Given the description of an element on the screen output the (x, y) to click on. 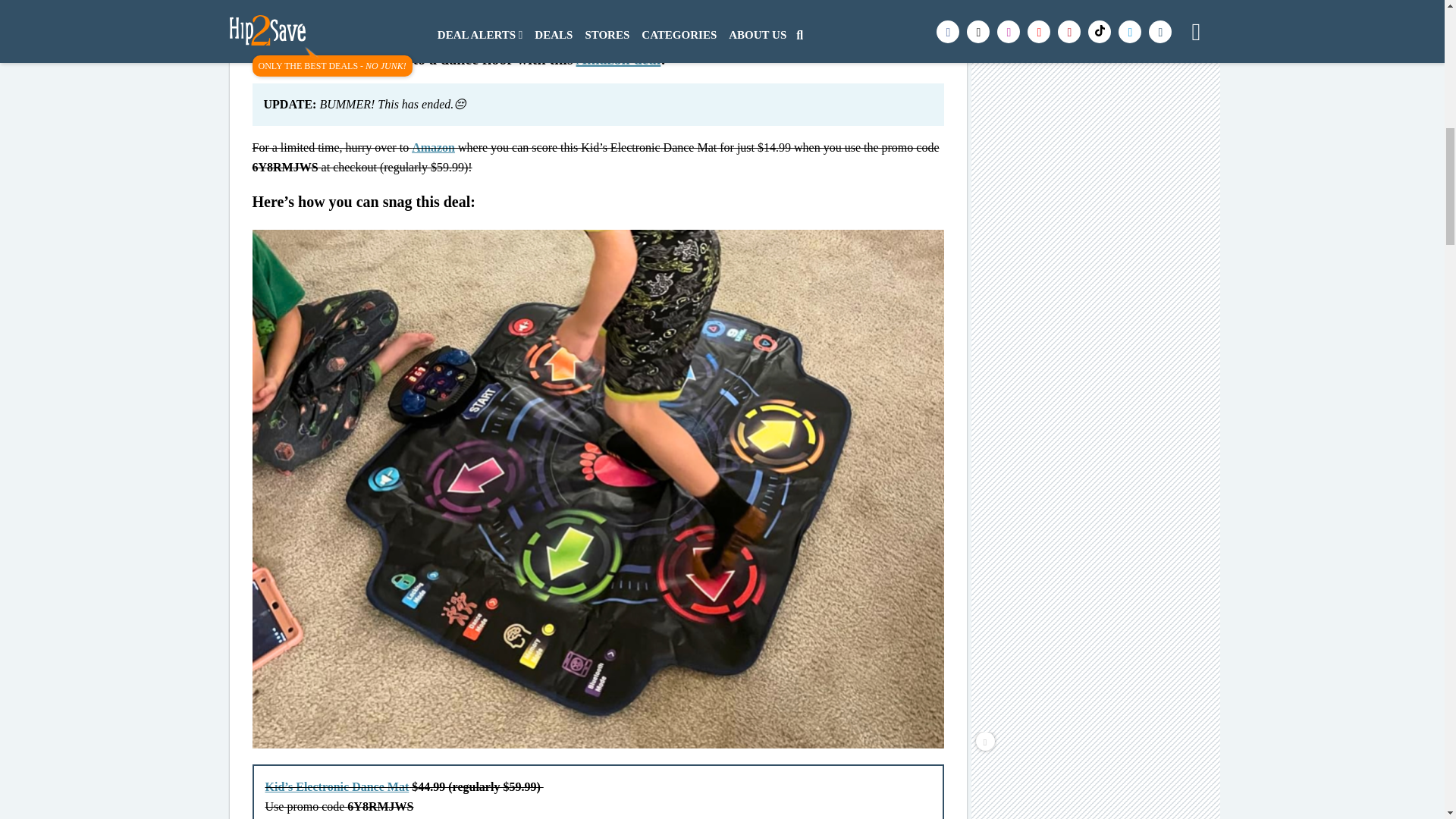
Amazon deal (618, 58)
Amazon (433, 146)
